Given the description of an element on the screen output the (x, y) to click on. 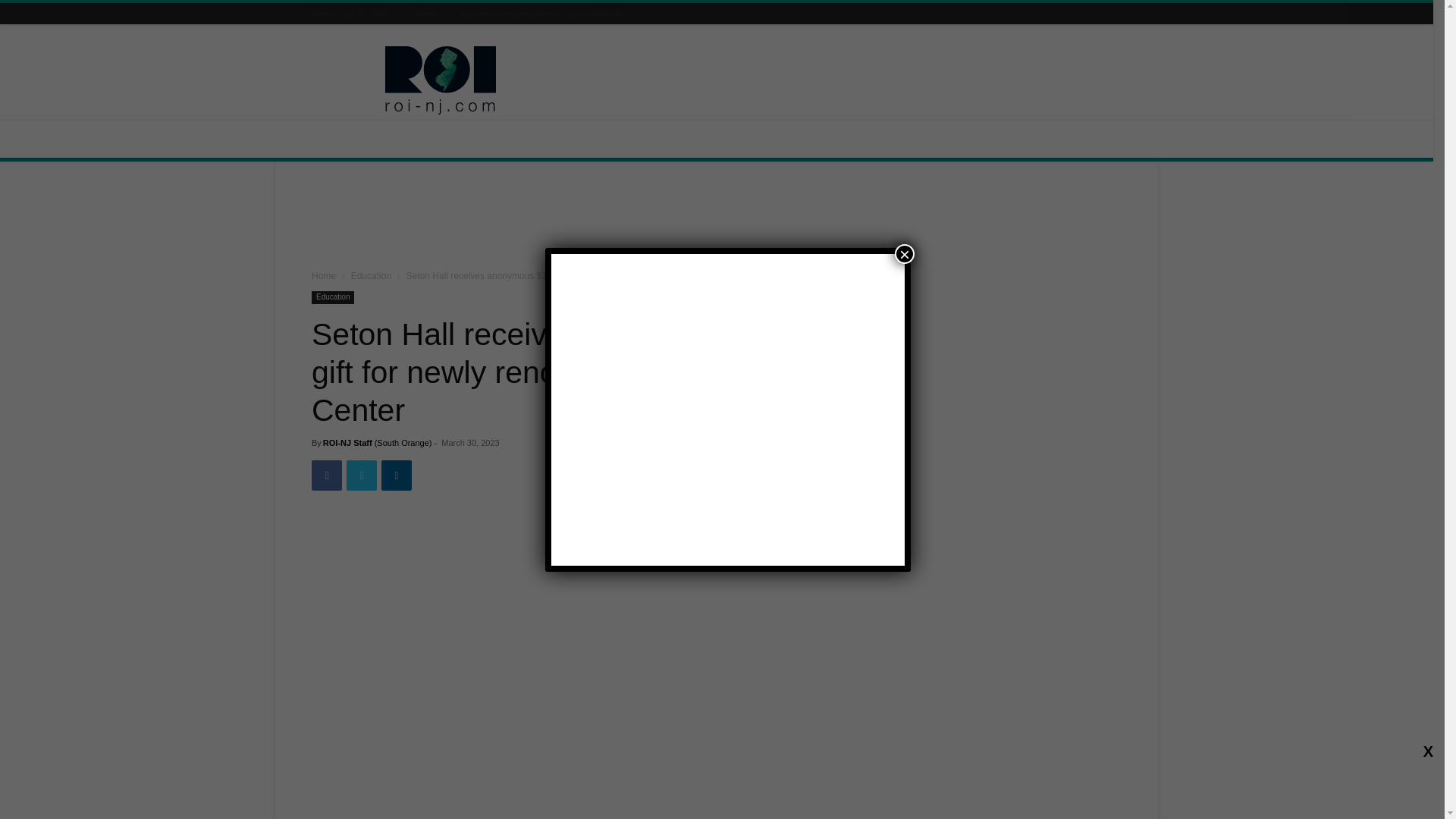
View all posts in Education (370, 276)
3rd party ad content (845, 79)
Facebook (326, 475)
3rd party ad content (716, 218)
Linkedin (396, 475)
Twitter (361, 475)
